Given the description of an element on the screen output the (x, y) to click on. 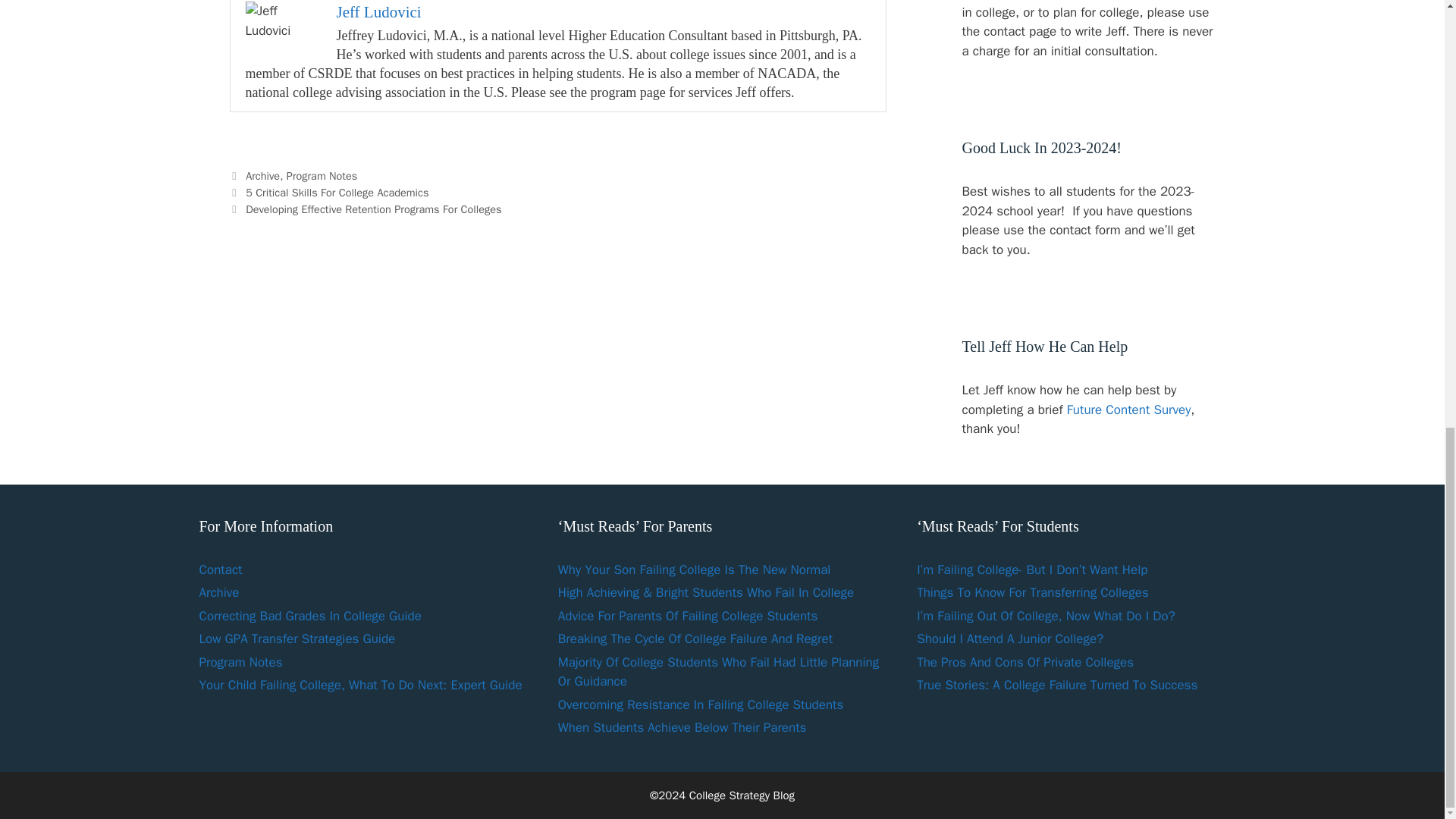
Archive (218, 592)
Jeff Ludovici (379, 12)
Breaking The Cycle Of College Failure And Regret (694, 638)
5 Critical Skills For College Academics (337, 192)
Developing Effective Retention Programs For Colleges (373, 209)
Future Content Survey (1129, 409)
Your Child Failing College, What To Do Next: Expert Guide (359, 684)
Low GPA Transfer Strategies Guide (296, 638)
Archive (262, 175)
Correcting Bad Grades In College Guide (309, 616)
Advice For Parents Of Failing College Students (687, 616)
Program Notes (240, 661)
Contact (219, 569)
Program Notes (321, 175)
